Given the description of an element on the screen output the (x, y) to click on. 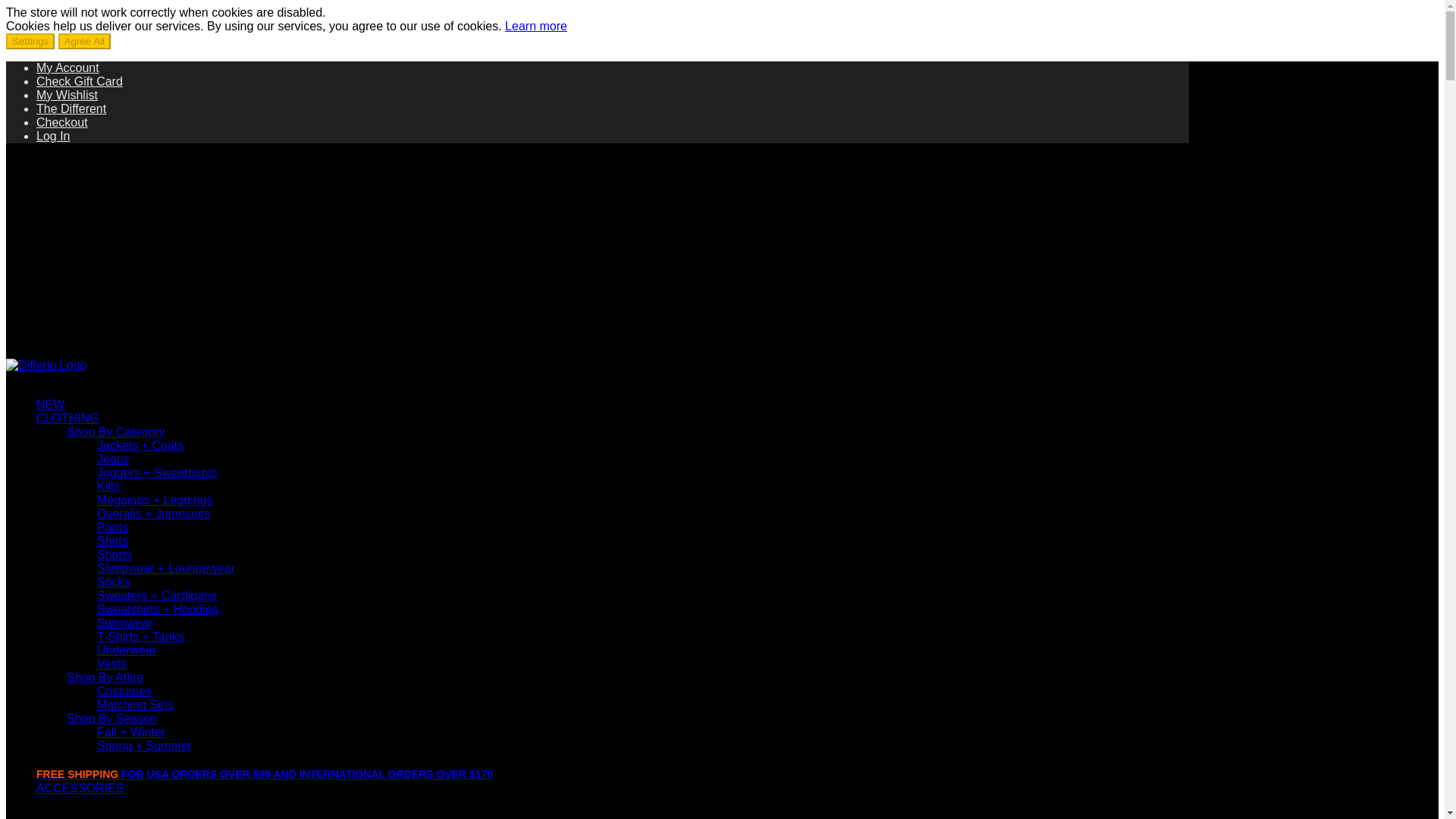
Costumes (124, 690)
Kilts (108, 486)
Shop By Category (115, 431)
NEW (50, 404)
Differio Logo (45, 365)
Underwear (126, 649)
Pants (112, 526)
Check Gift Card (79, 81)
Shop By Attire (104, 676)
Vests (111, 663)
Log In (612, 136)
Matching Sets (135, 704)
Differio Logo (54, 306)
Differio Logo (54, 204)
Shorts (114, 554)
